Given the description of an element on the screen output the (x, y) to click on. 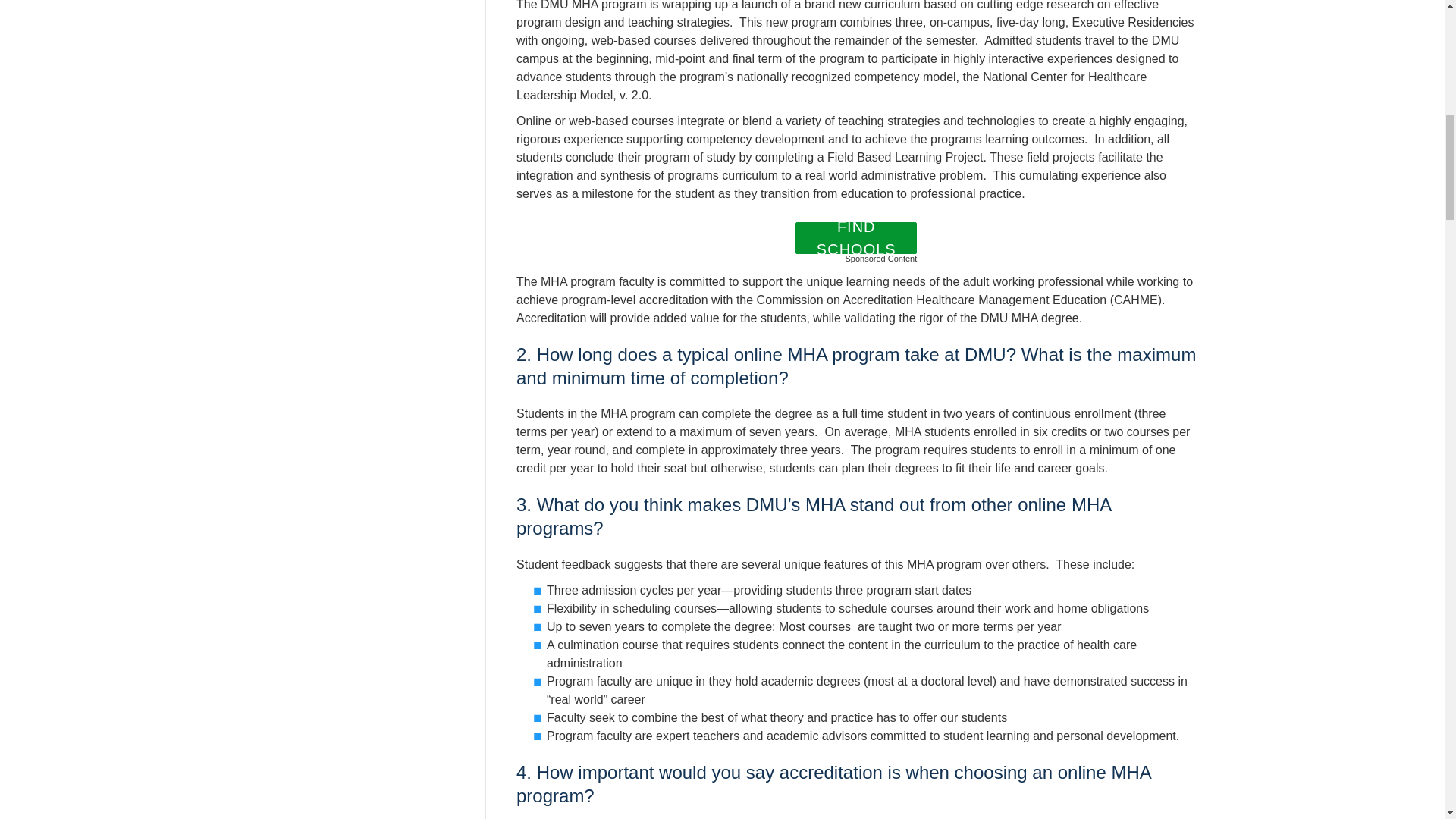
FIND SCHOOLS (856, 237)
